Given the description of an element on the screen output the (x, y) to click on. 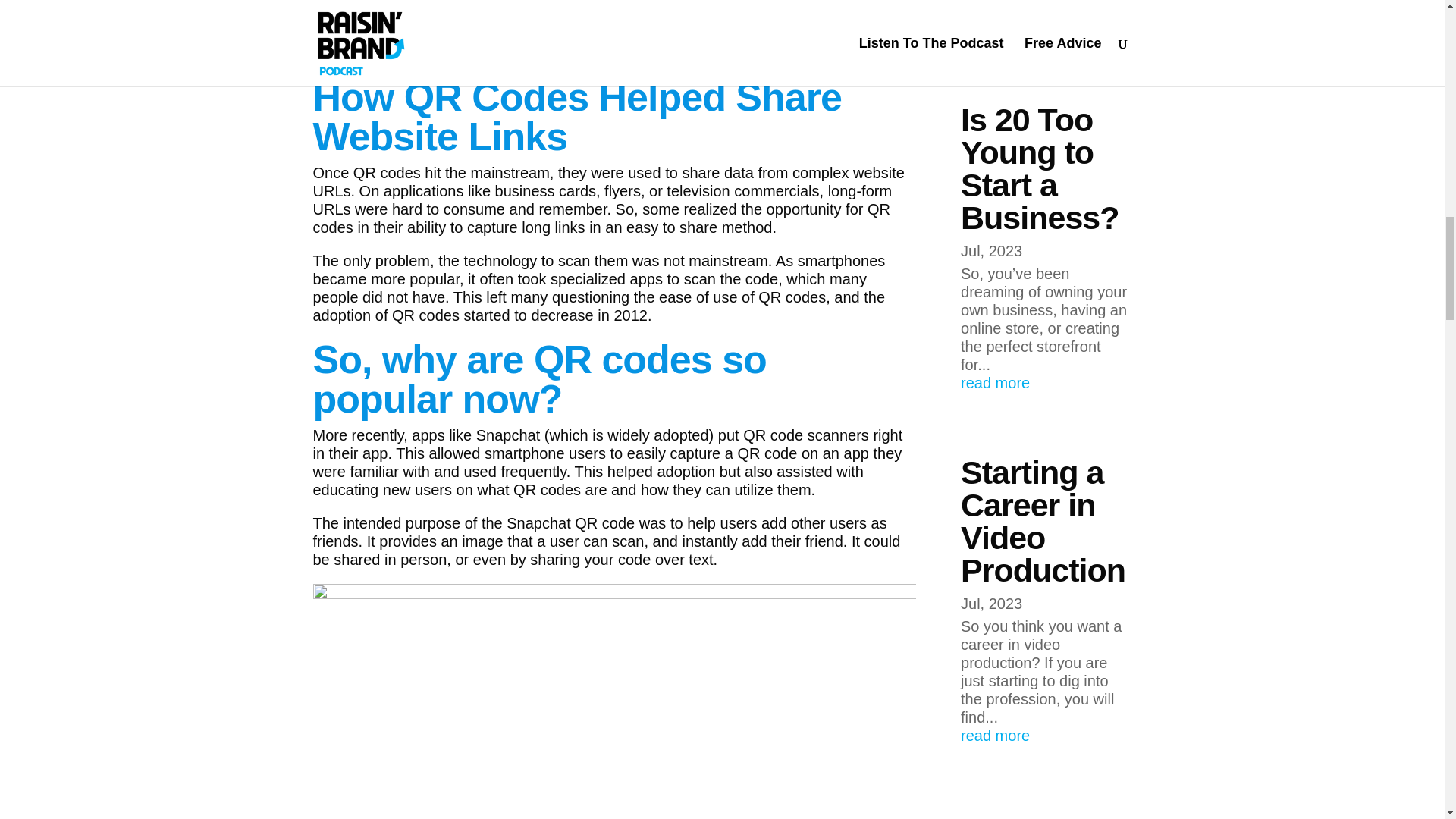
read more (1045, 382)
Starting a Career in Video Production (1042, 521)
read more (1045, 30)
Is 20 Too Young to Start a Business? (1039, 168)
read more (1045, 735)
Google Trends (443, 53)
